Given the description of an element on the screen output the (x, y) to click on. 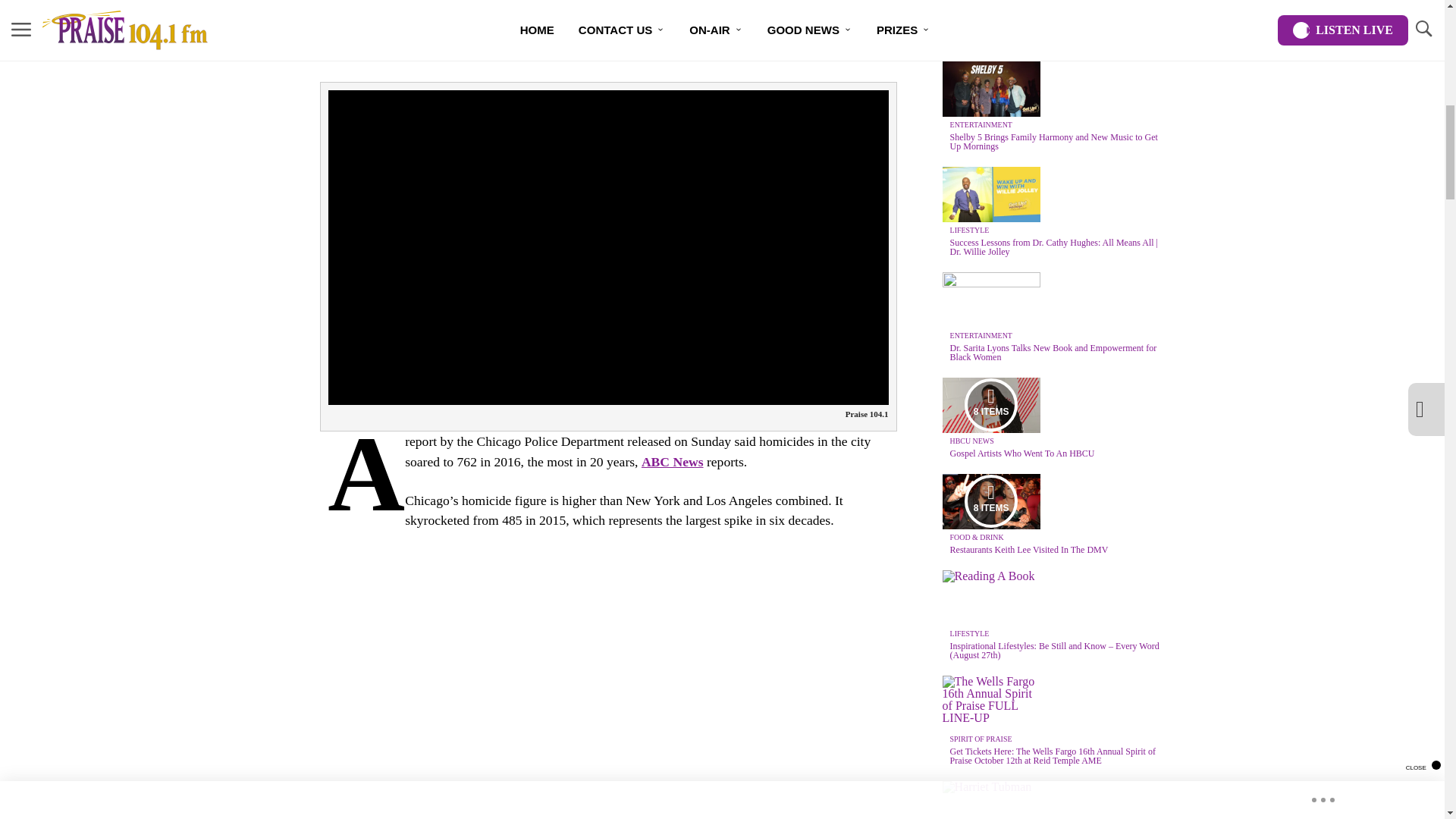
Media Playlist (990, 501)
Media Playlist (990, 404)
ABC News (672, 461)
